Given the description of an element on the screen output the (x, y) to click on. 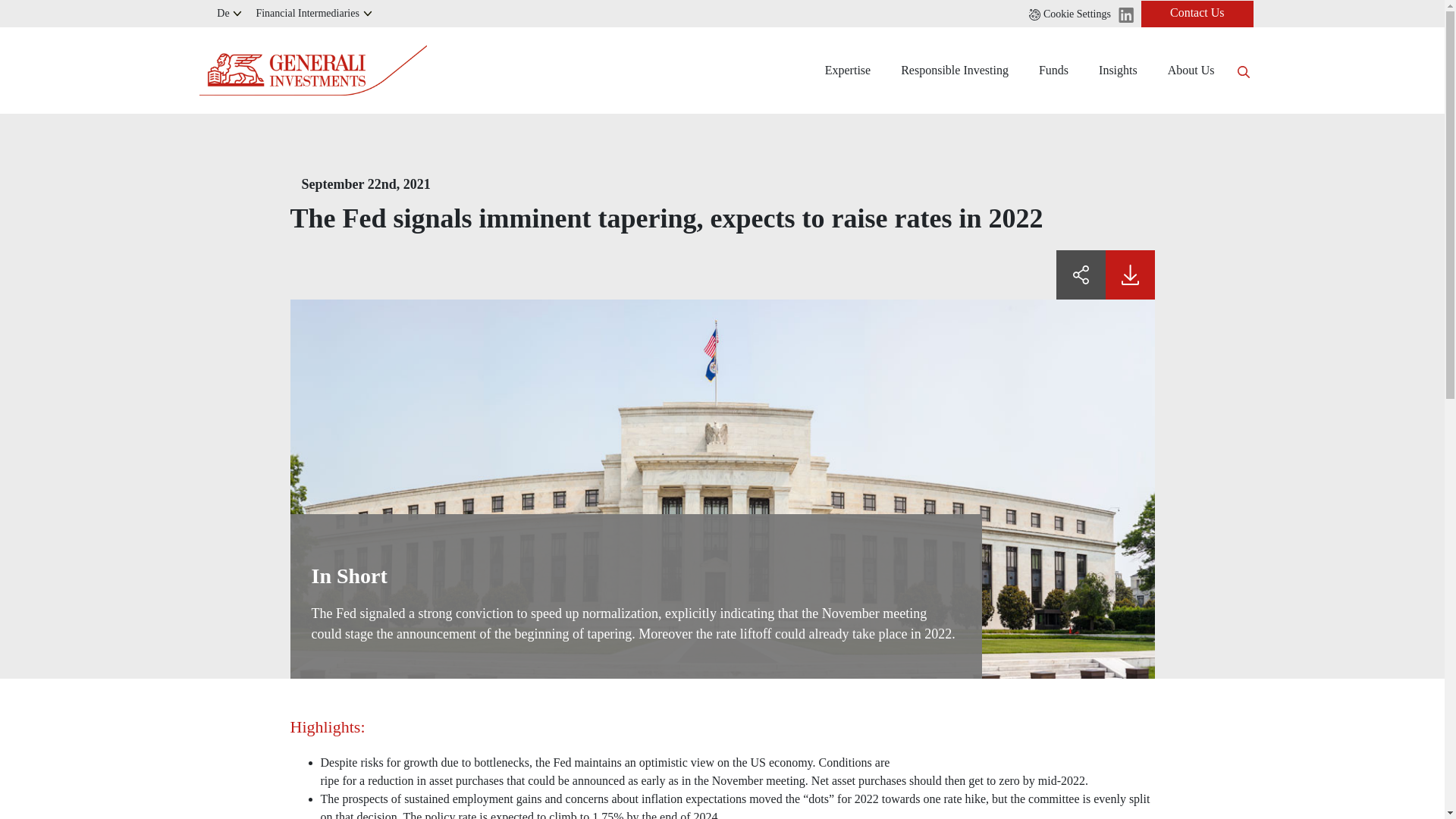
Contact Us (1197, 13)
Expertise (847, 70)
About Us (1191, 70)
Insights (1118, 70)
Funds (1053, 70)
Responsible Investing (954, 70)
